Given the description of an element on the screen output the (x, y) to click on. 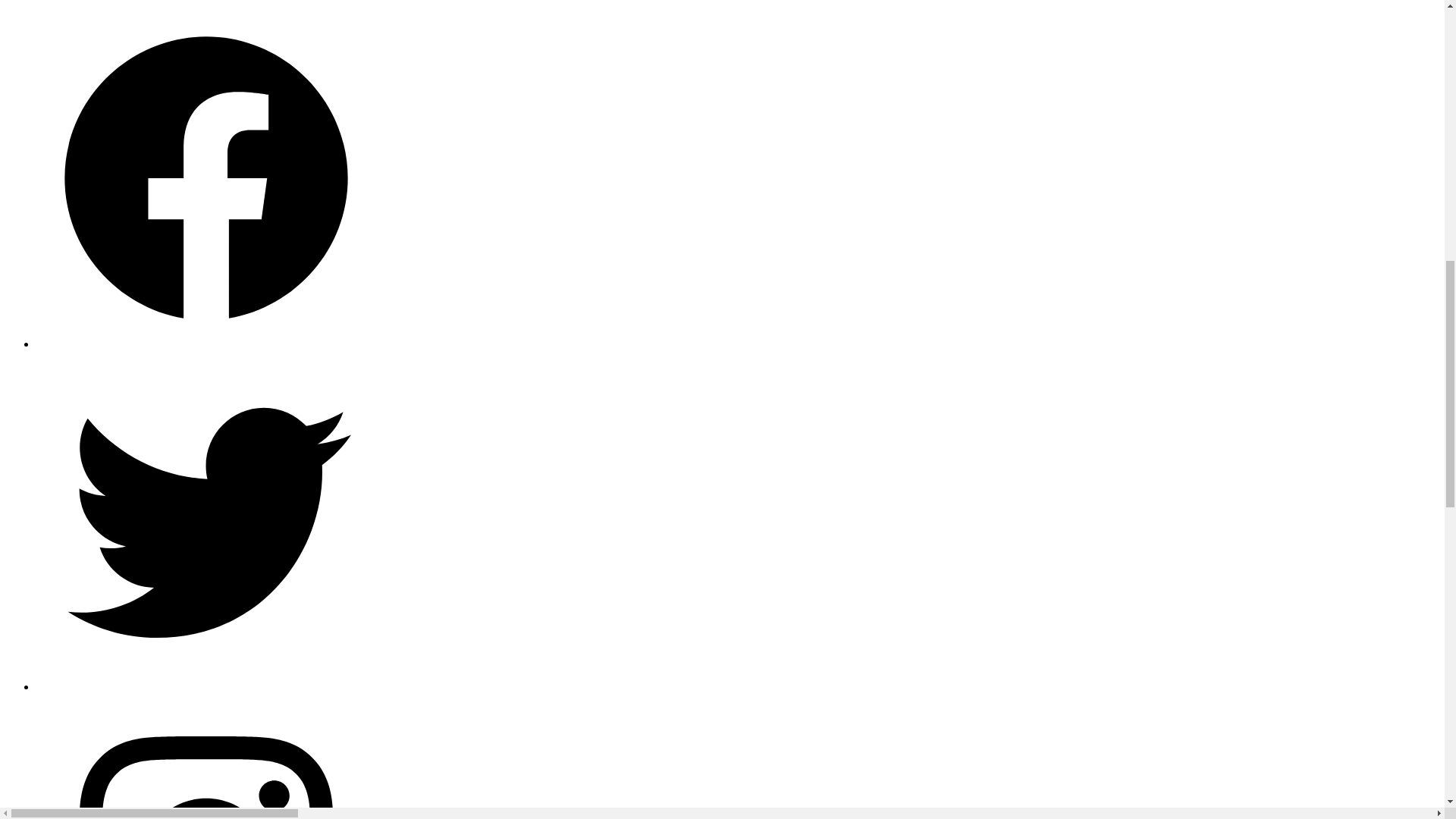
Open Twitter in a new tab (205, 686)
Open Facebook in a new tab (205, 343)
